Given the description of an element on the screen output the (x, y) to click on. 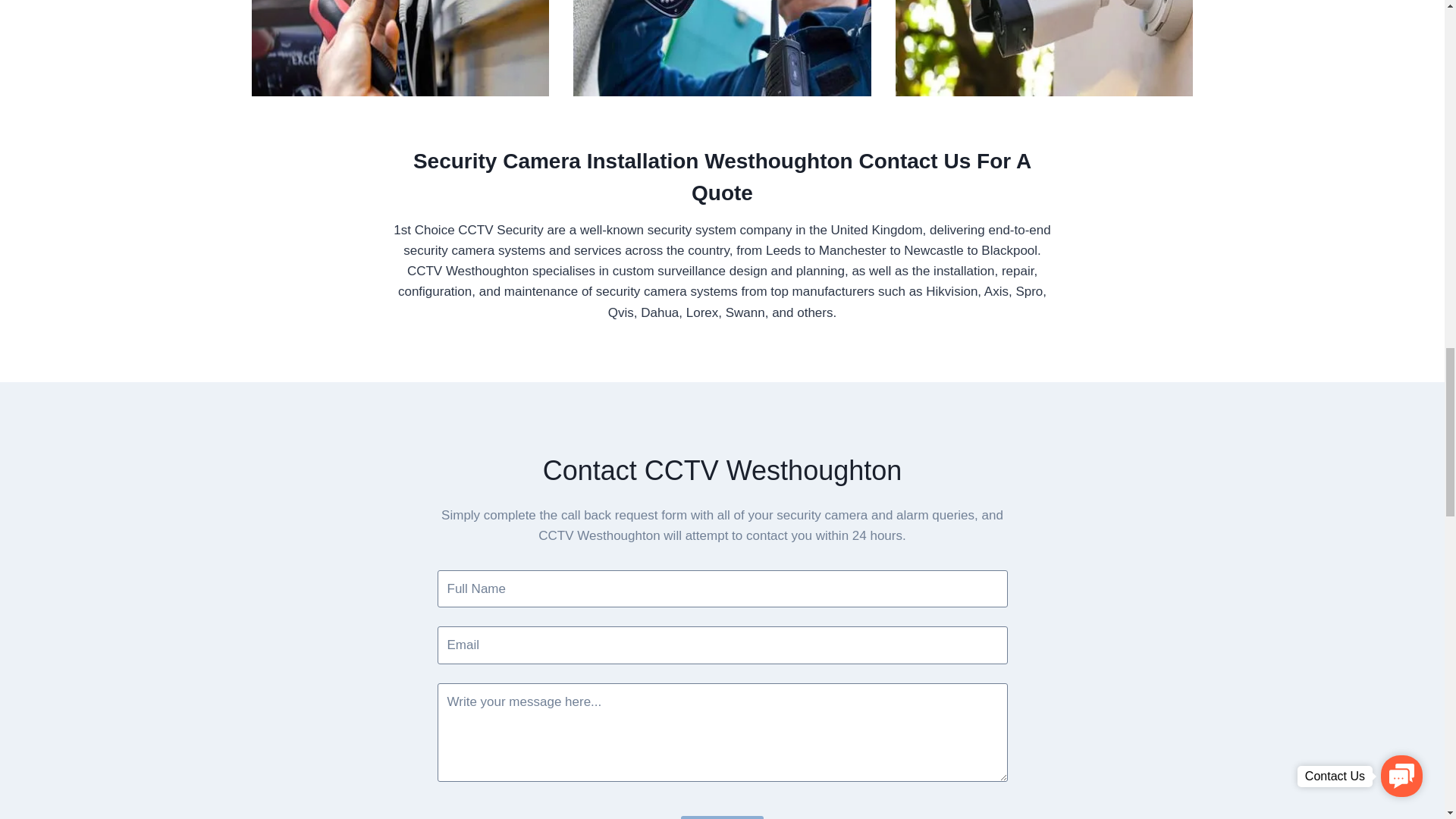
SUBMIT (721, 817)
